Given the description of an element on the screen output the (x, y) to click on. 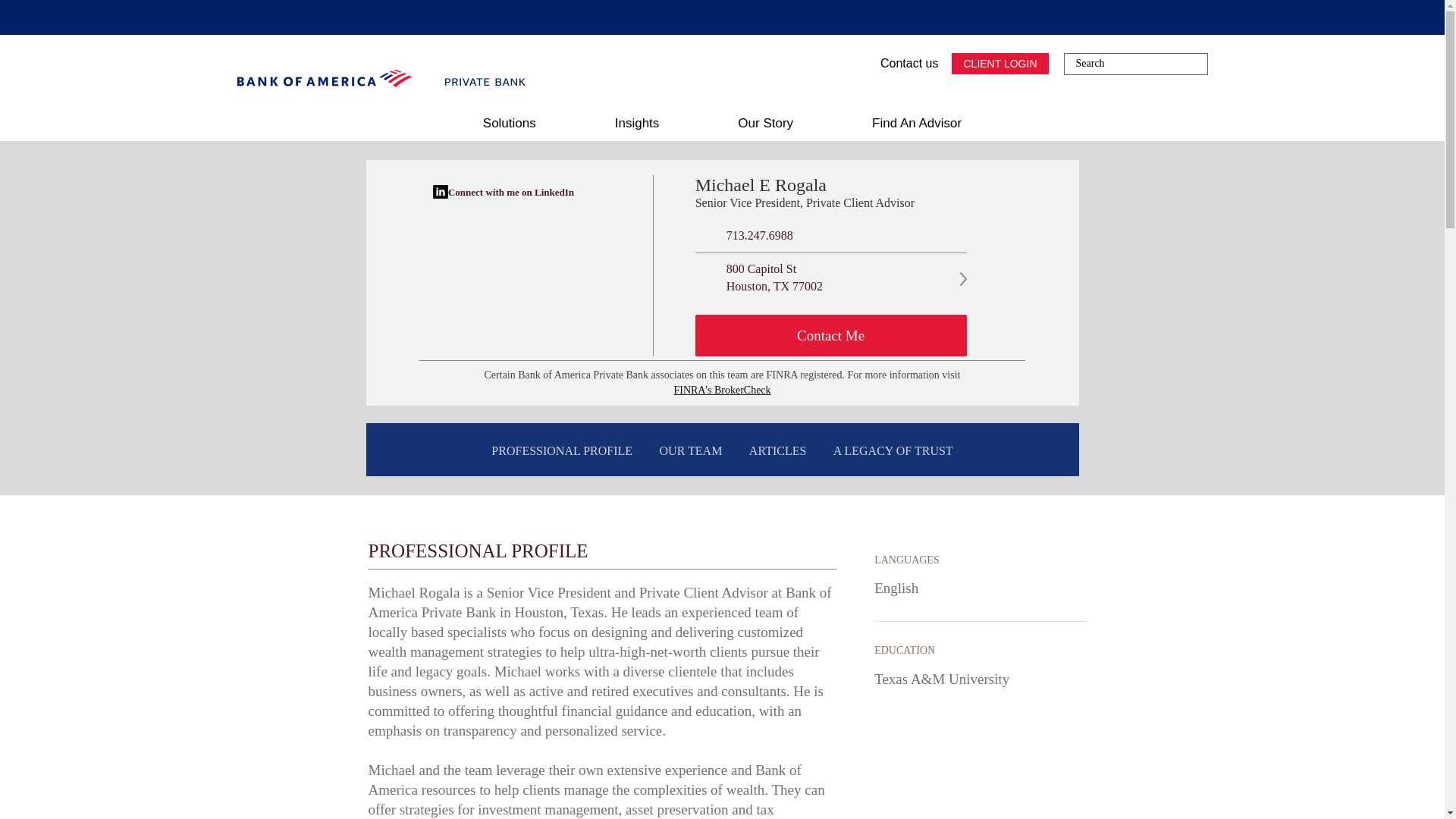
CLIENT LOGIN (1000, 63)
Insights (637, 122)
Contact us (900, 63)
OUR TEAM (691, 451)
PROFESSIONAL PROFILE (562, 451)
A LEGACY OF TRUST (893, 451)
Contact Me (830, 335)
FINRA's BrokerCheck (721, 390)
Our Story (765, 122)
ARTICLES (777, 451)
